Given the description of an element on the screen output the (x, y) to click on. 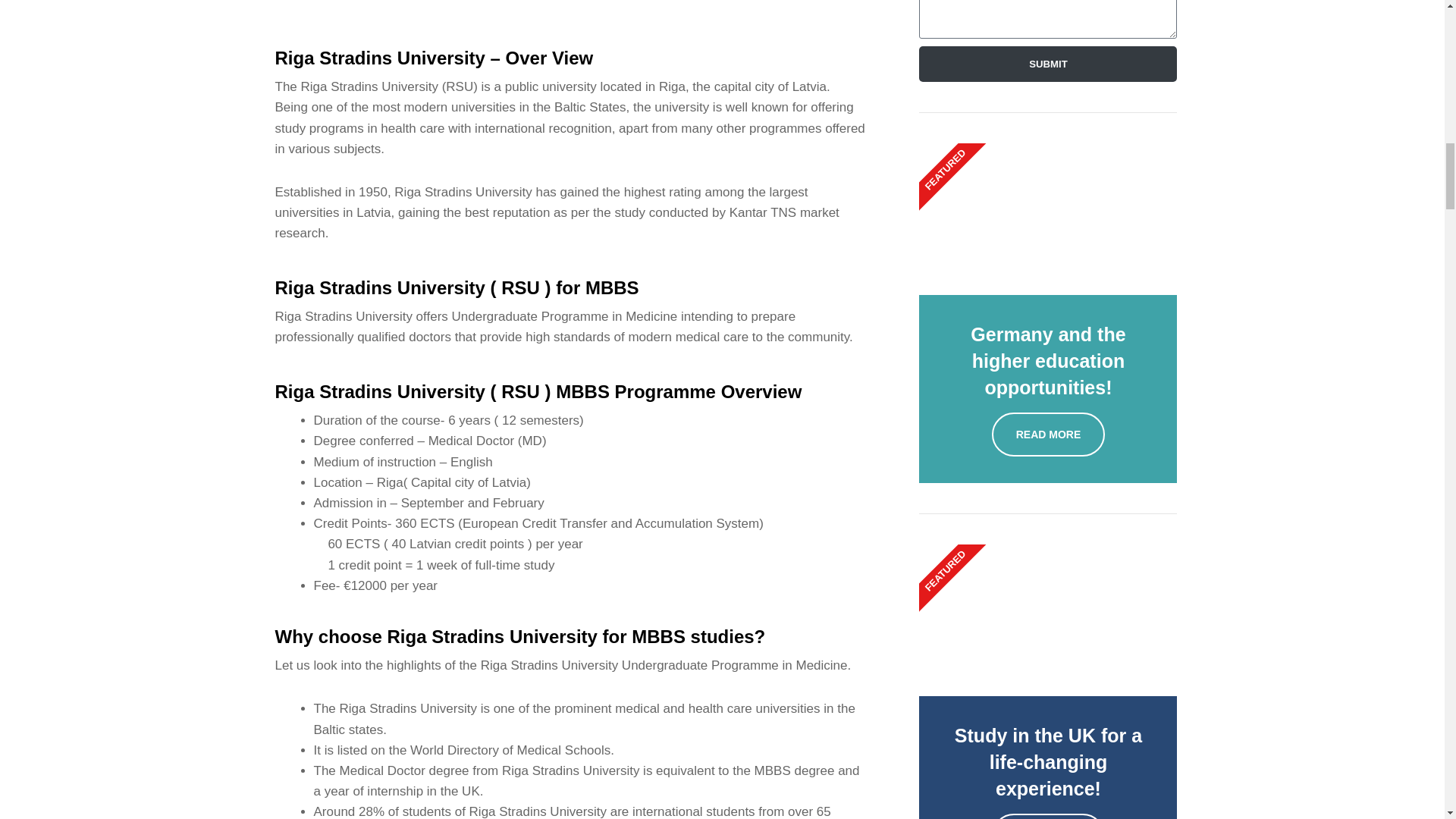
Riga Stradins University Admission 2023 1 (570, 7)
